Given the description of an element on the screen output the (x, y) to click on. 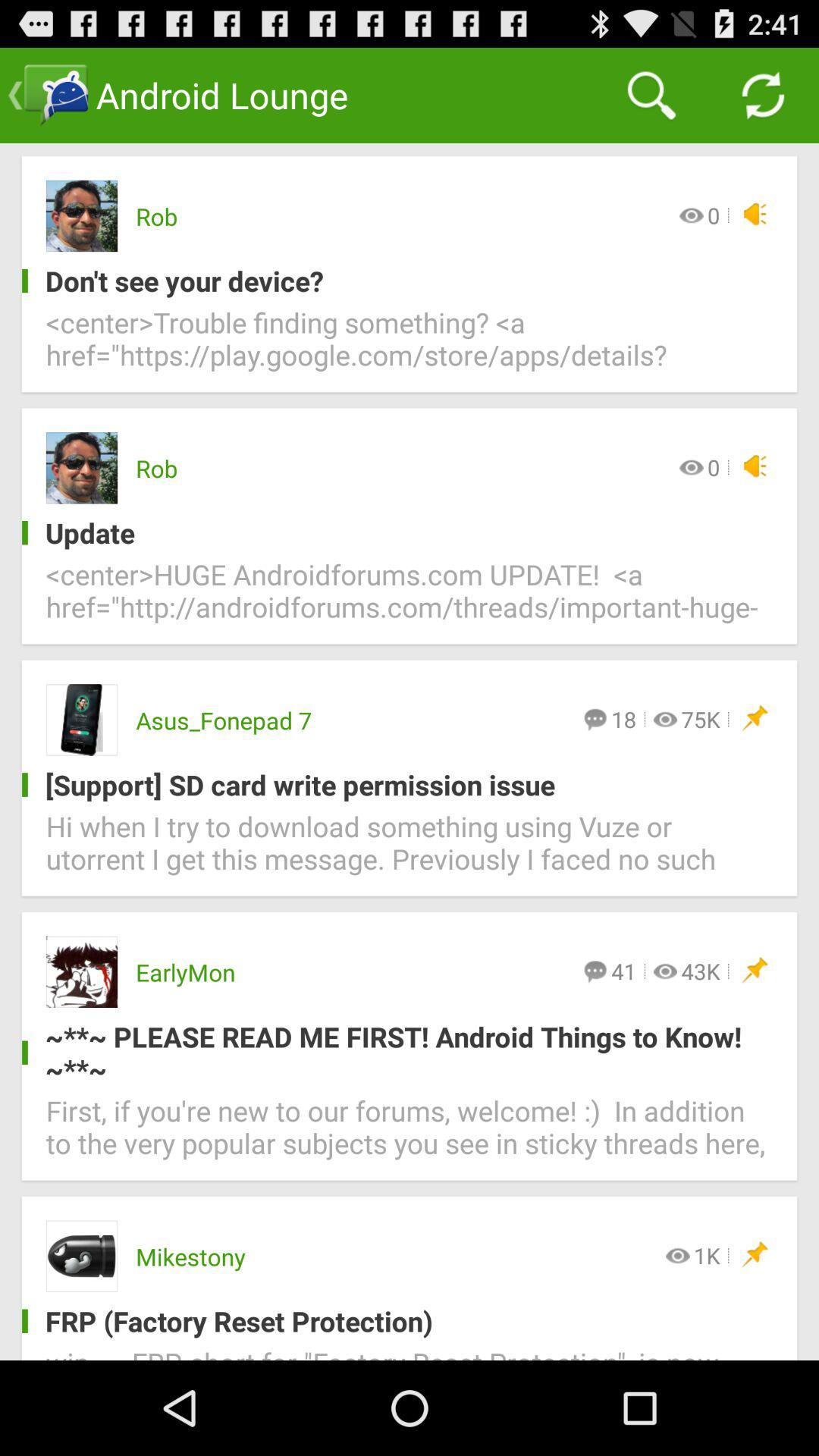
turn off app next to android lounge app (651, 95)
